Given the description of an element on the screen output the (x, y) to click on. 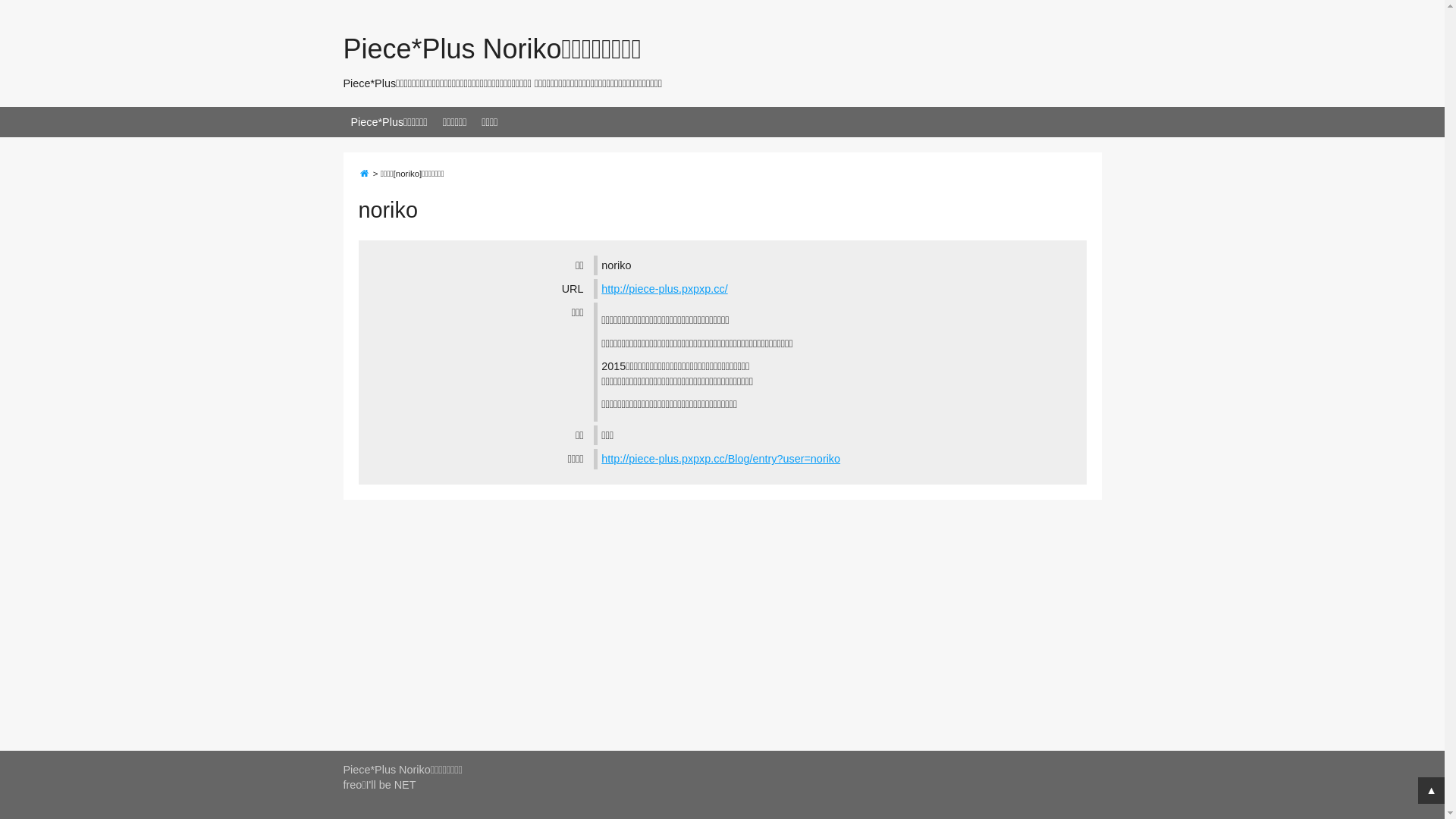
freo Element type: text (351, 784)
http://piece-plus.pxpxp.cc/ Element type: text (664, 288)
http://piece-plus.pxpxp.cc/Blog/entry?user=noriko Element type: text (720, 458)
I'll be NET Element type: text (391, 784)
